Given the description of an element on the screen output the (x, y) to click on. 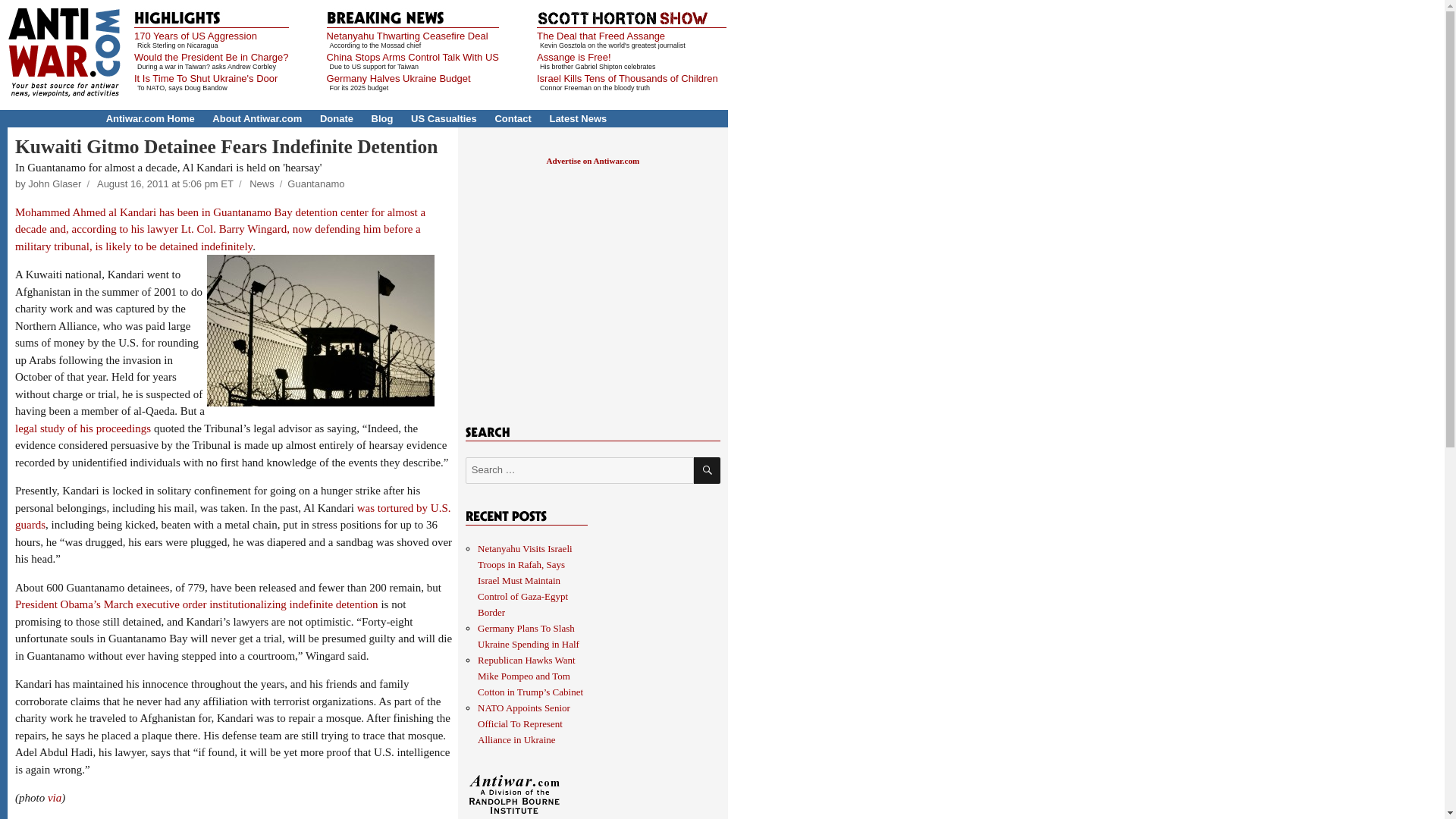
US Casualties (443, 118)
Guantanamo (314, 183)
by John Glaser (47, 183)
About Antiwar.com (256, 118)
It Is Time To Shut Ukraine's Door (205, 78)
Netanyahu Thwarting Ceasefire Deal (406, 35)
3rd party ad content (592, 286)
Contact (513, 118)
China Stops Arms Control Talk With US (412, 57)
Would the President Be in Charge? (210, 57)
via (53, 797)
legal study of his proceedings (82, 428)
The Deal that Freed Assange (601, 35)
Donate (336, 118)
